Given the description of an element on the screen output the (x, y) to click on. 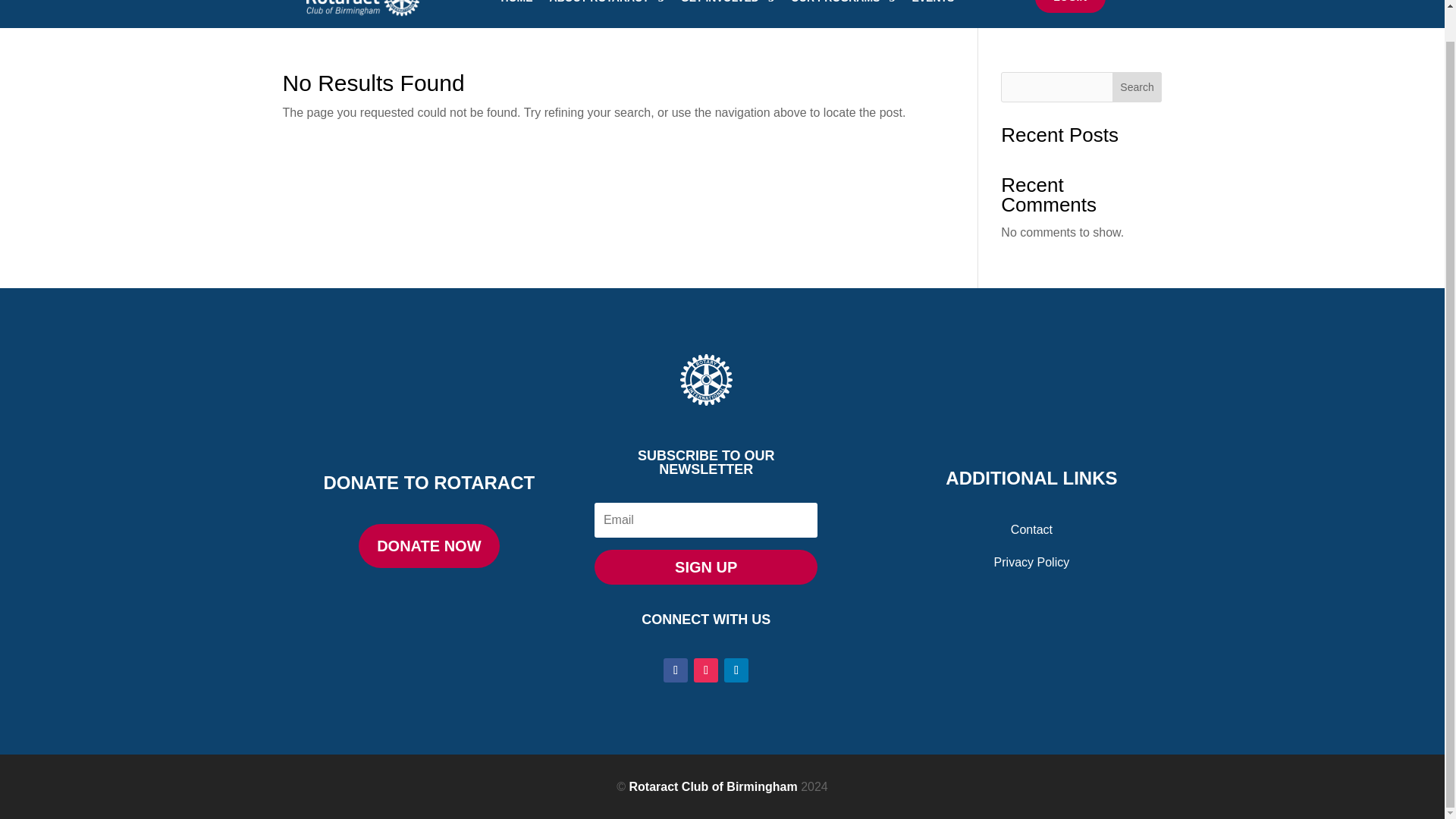
OUR PROGRAMS (842, 13)
LOGIN (1070, 6)
Follow on LinkedIn (735, 670)
Follow on Instagram (705, 670)
Follow on Facebook (675, 670)
EVENTS (932, 13)
ABOUT ROTARACT (606, 13)
HOME (516, 13)
rotary-icon (705, 379)
GET INVOLVED (727, 13)
